Given the description of an element on the screen output the (x, y) to click on. 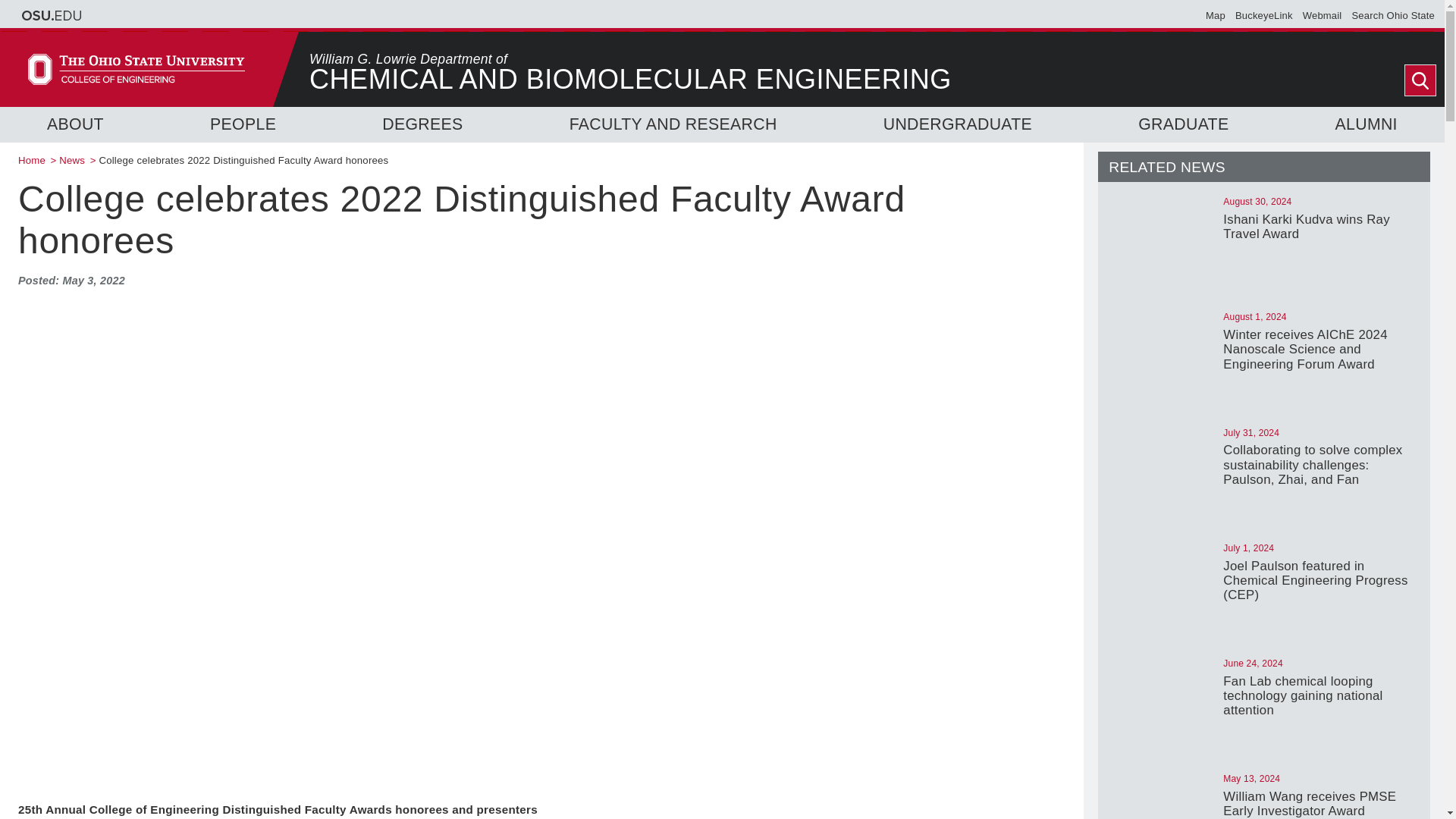
The Ohio State University (51, 15)
Webmail (1322, 15)
Open search form (1420, 80)
Map (1215, 15)
ABOUT (74, 124)
